Given the description of an element on the screen output the (x, y) to click on. 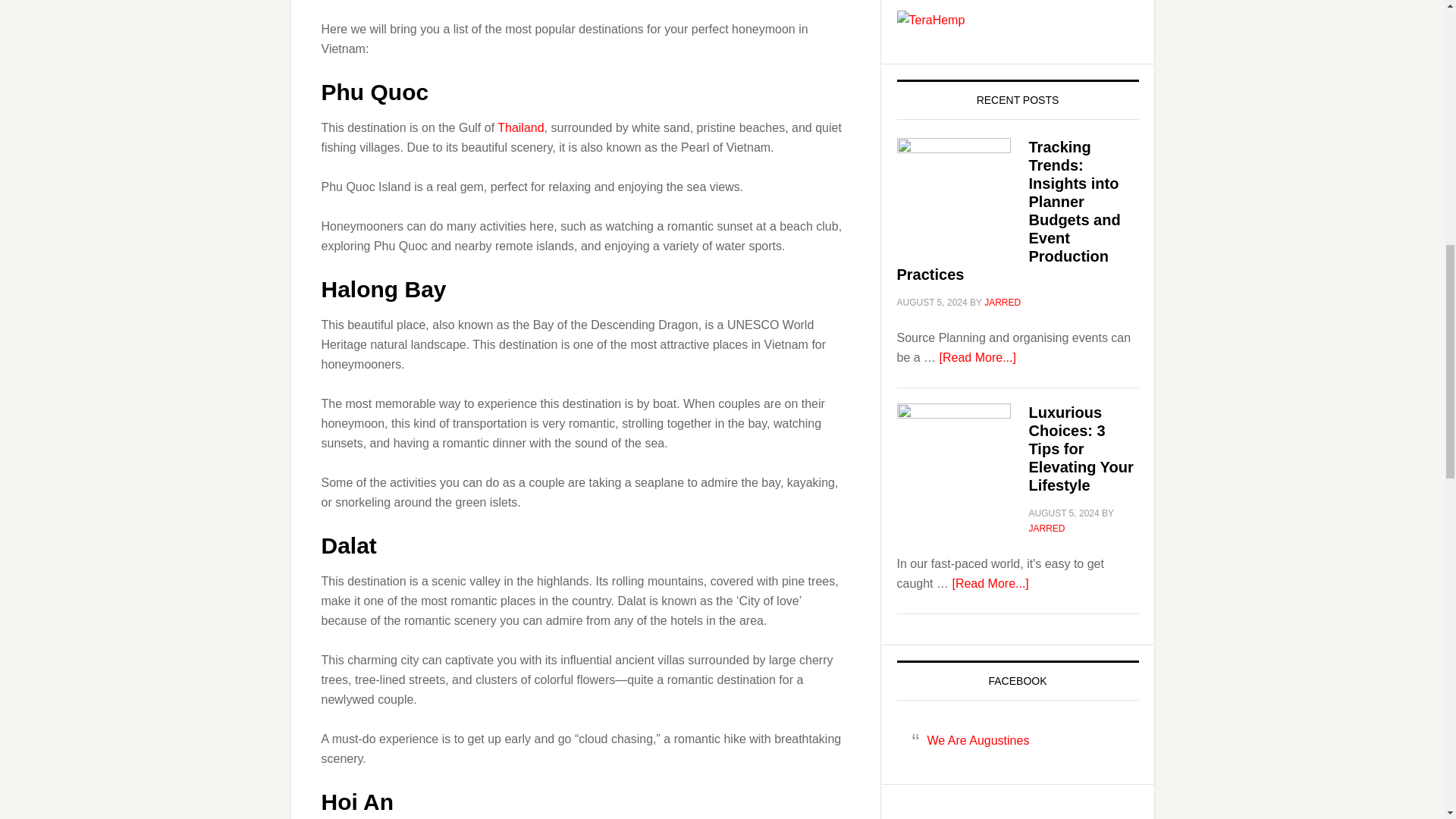
We Are Augustines (977, 739)
Luxurious Choices: 3 Tips for Elevating Your Lifestyle (1079, 448)
JARRED (1045, 528)
TeraHemp (929, 19)
JARRED (1002, 302)
Thailand (520, 127)
